Given the description of an element on the screen output the (x, y) to click on. 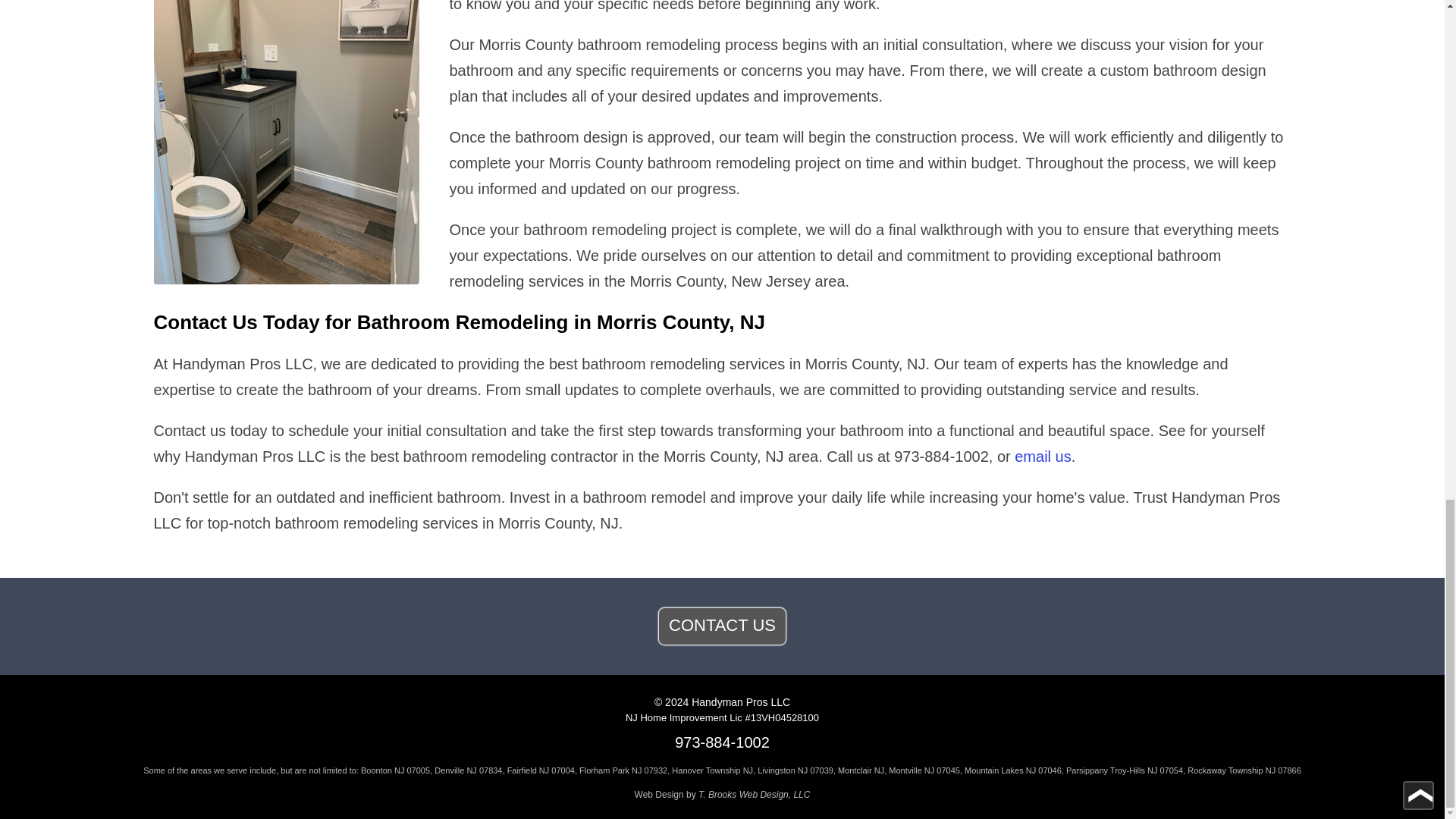
NJ (399, 769)
Denville NJ 07834 (467, 769)
07054 (1170, 769)
Florham Park NJ 07932 (622, 769)
07039 (820, 769)
CONTACT US (722, 626)
Township NJ (729, 769)
973-884-1002 (722, 742)
Rockaway Township NJ 07866 (1244, 769)
NJ (929, 769)
Mountain Lakes NJ 07046 (1012, 769)
Montclair NJ (860, 769)
Boonton (376, 769)
Parsippany Troy-Hills (1104, 769)
